Given the description of an element on the screen output the (x, y) to click on. 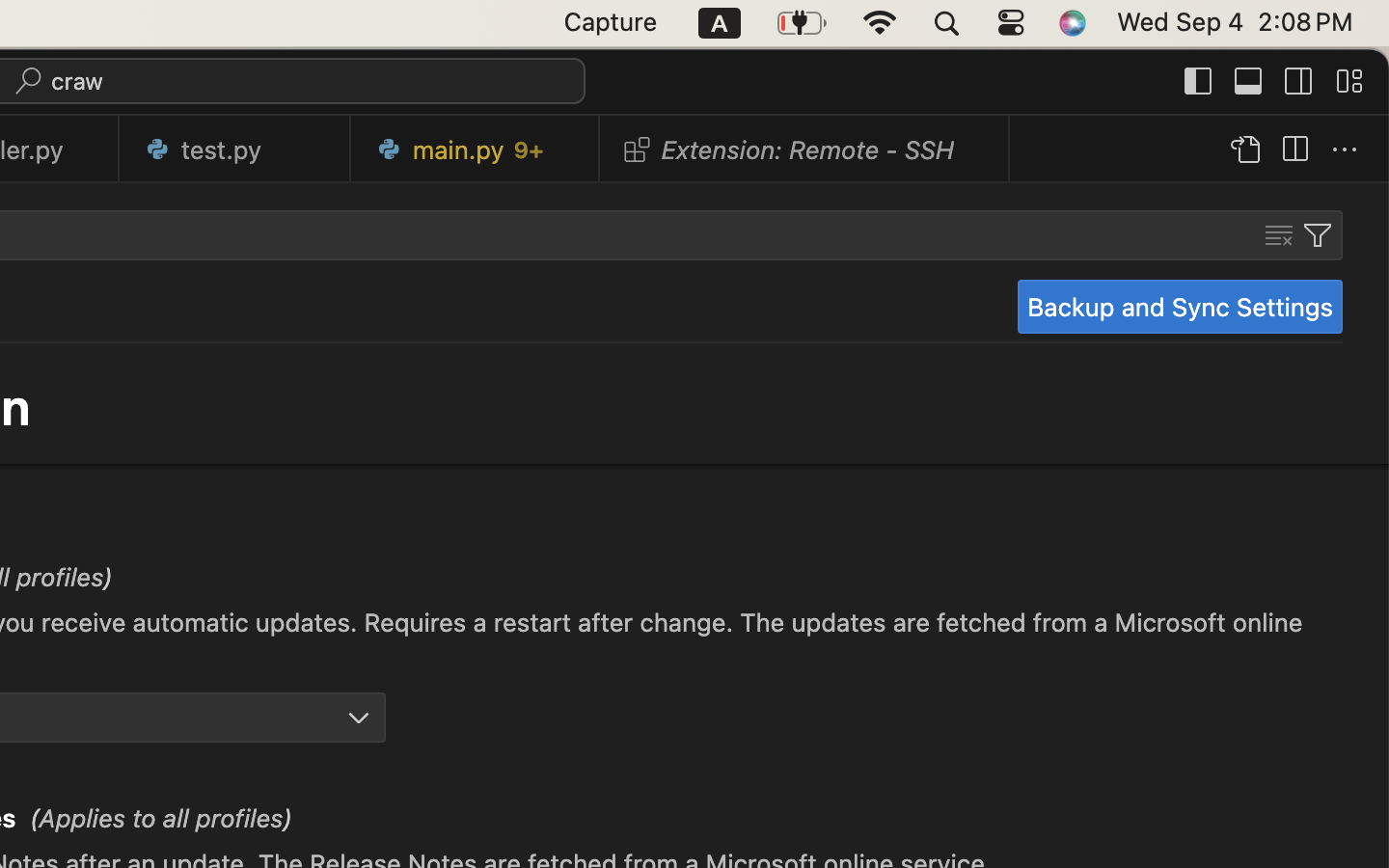
0 main.py   9+ Element type: AXRadioButton (475, 149)
Applies to all profiles Element type: AXStaticText (160, 818)
 Element type: AXStaticText (1317, 234)
 Element type: AXButton (1294, 150)
0 Extension: Remote - SSH   Element type: AXRadioButton (804, 149)
